Given the description of an element on the screen output the (x, y) to click on. 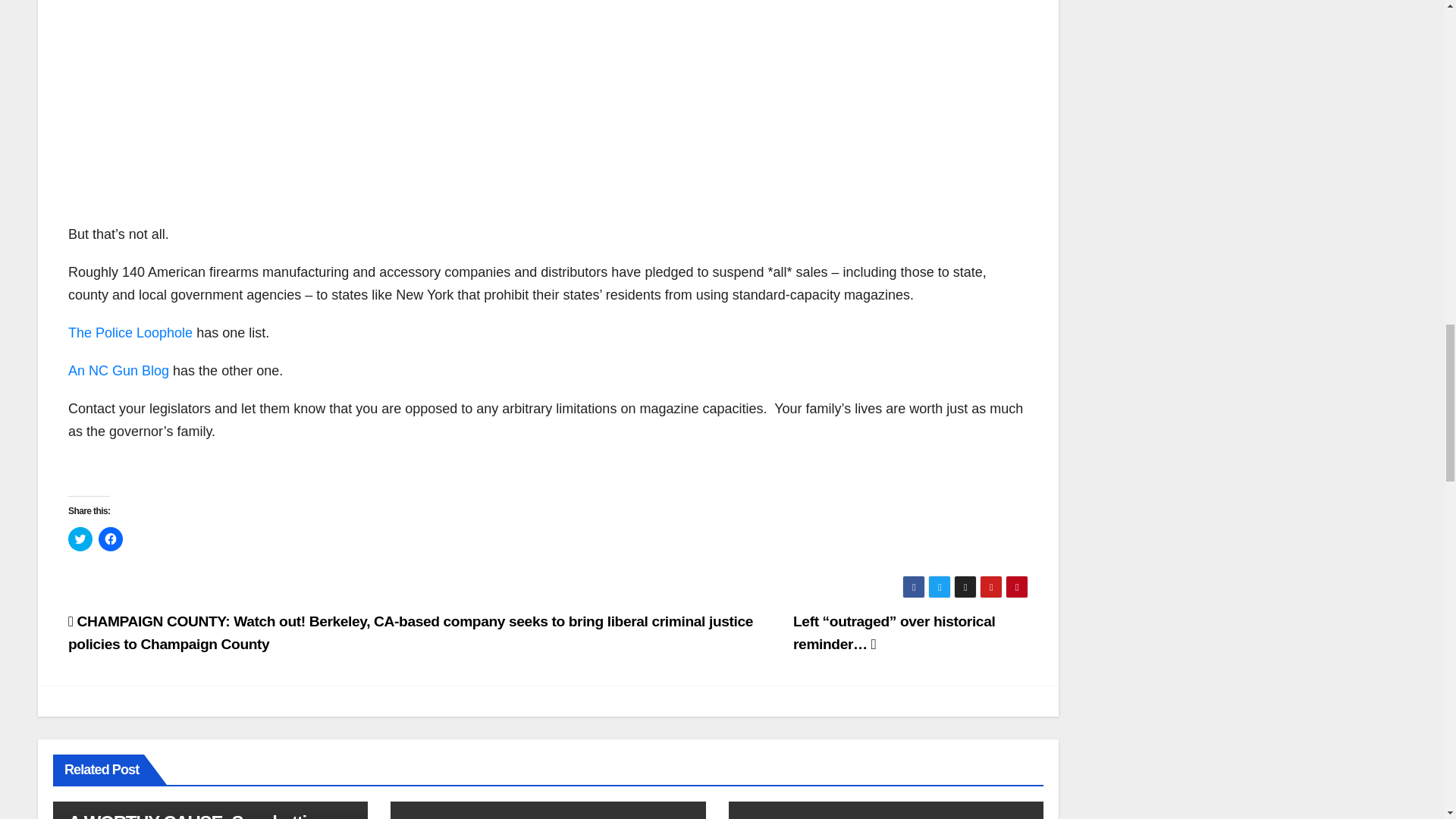
Click to share on Facebook (110, 539)
An NC Gun Blog (118, 370)
The Police Loophole (130, 332)
Click to share on Twitter (80, 539)
